Given the description of an element on the screen output the (x, y) to click on. 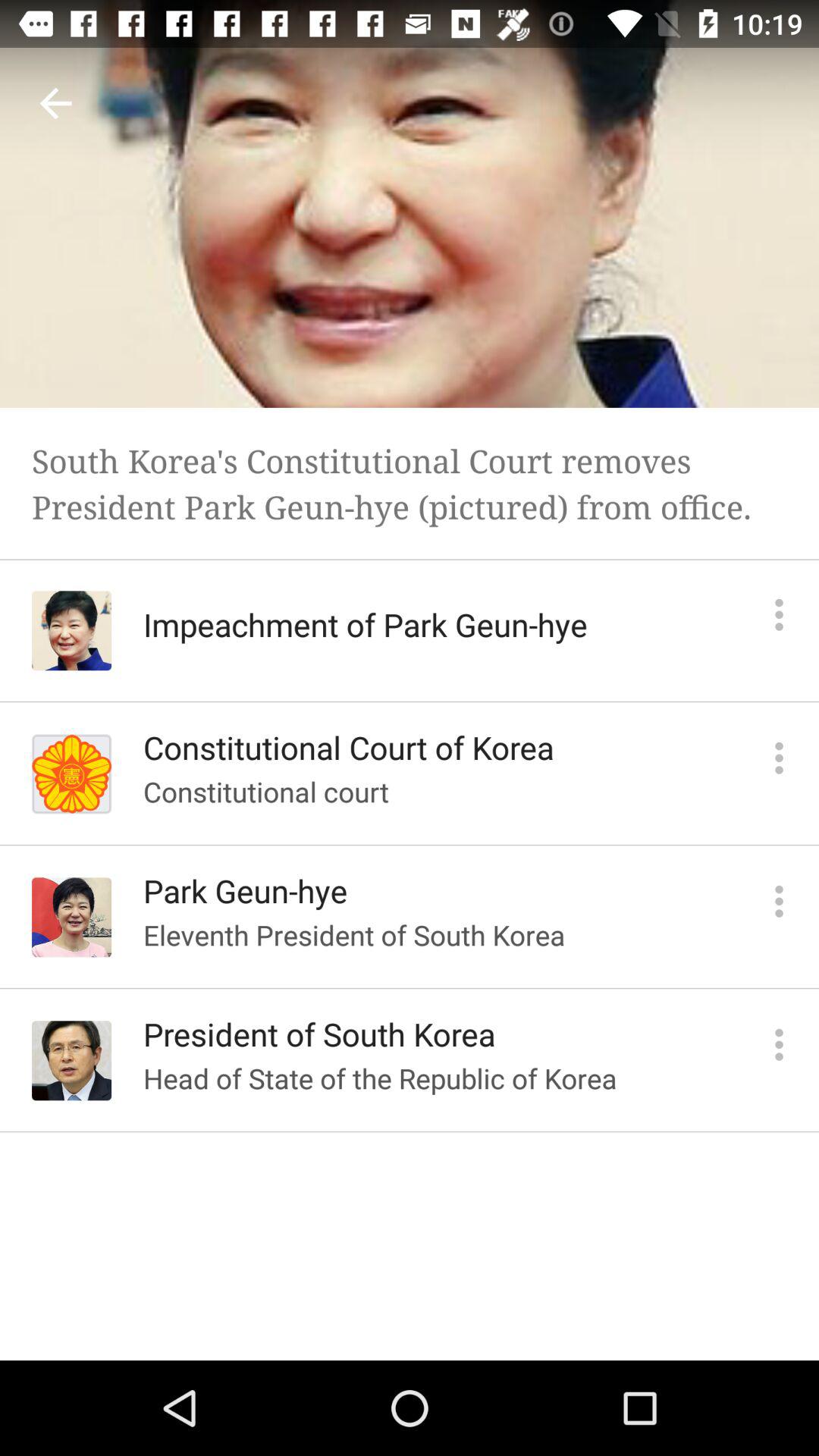
go to more options (779, 901)
